Given the description of an element on the screen output the (x, y) to click on. 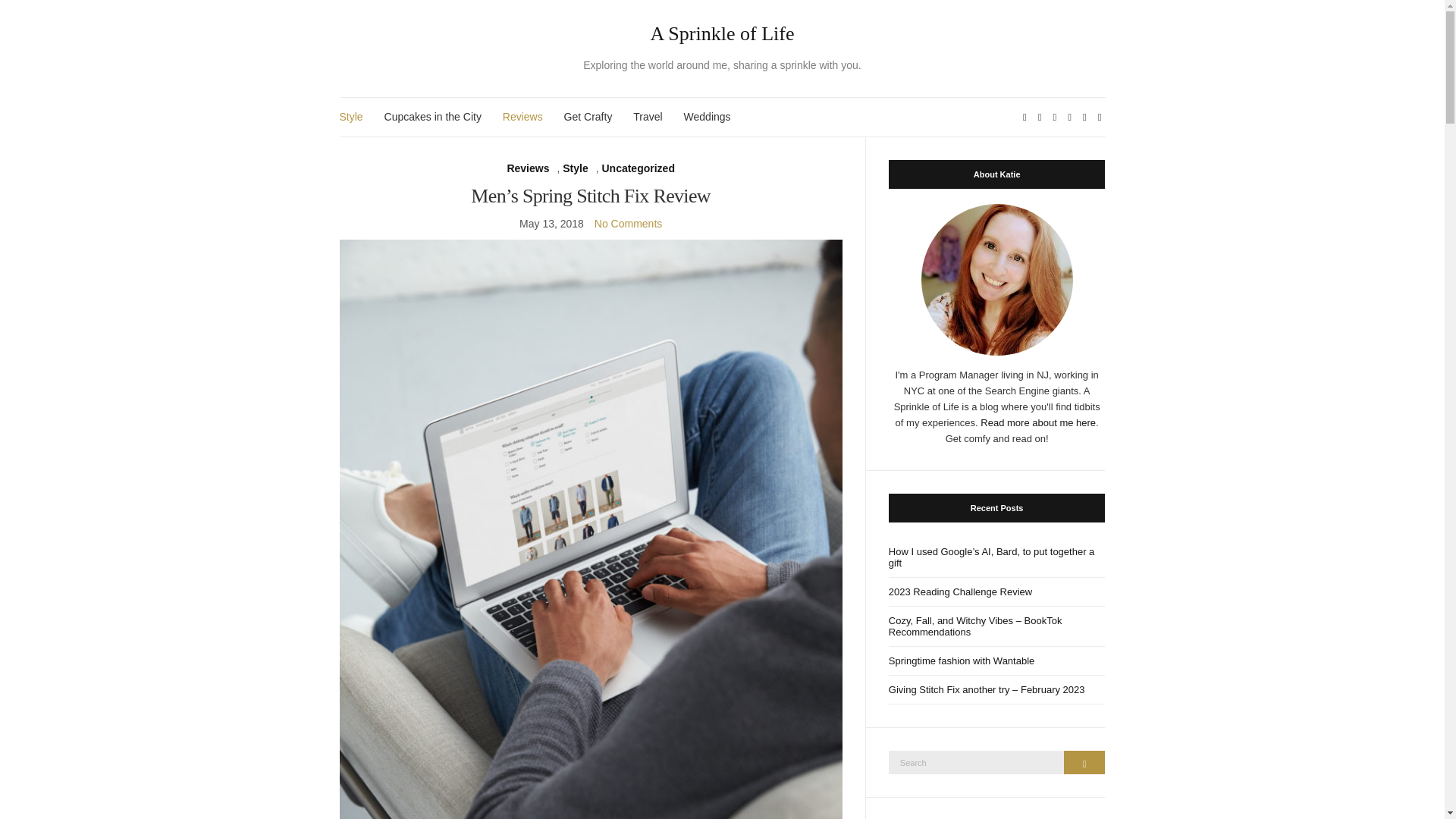
Uncategorized (637, 168)
Travel (647, 117)
No Comments (628, 223)
A Sprinkle of Life (722, 33)
Cupcakes in the City (432, 117)
Style (350, 117)
Style (575, 168)
Reviews (527, 168)
Weddings (707, 117)
Reviews (522, 117)
